Given the description of an element on the screen output the (x, y) to click on. 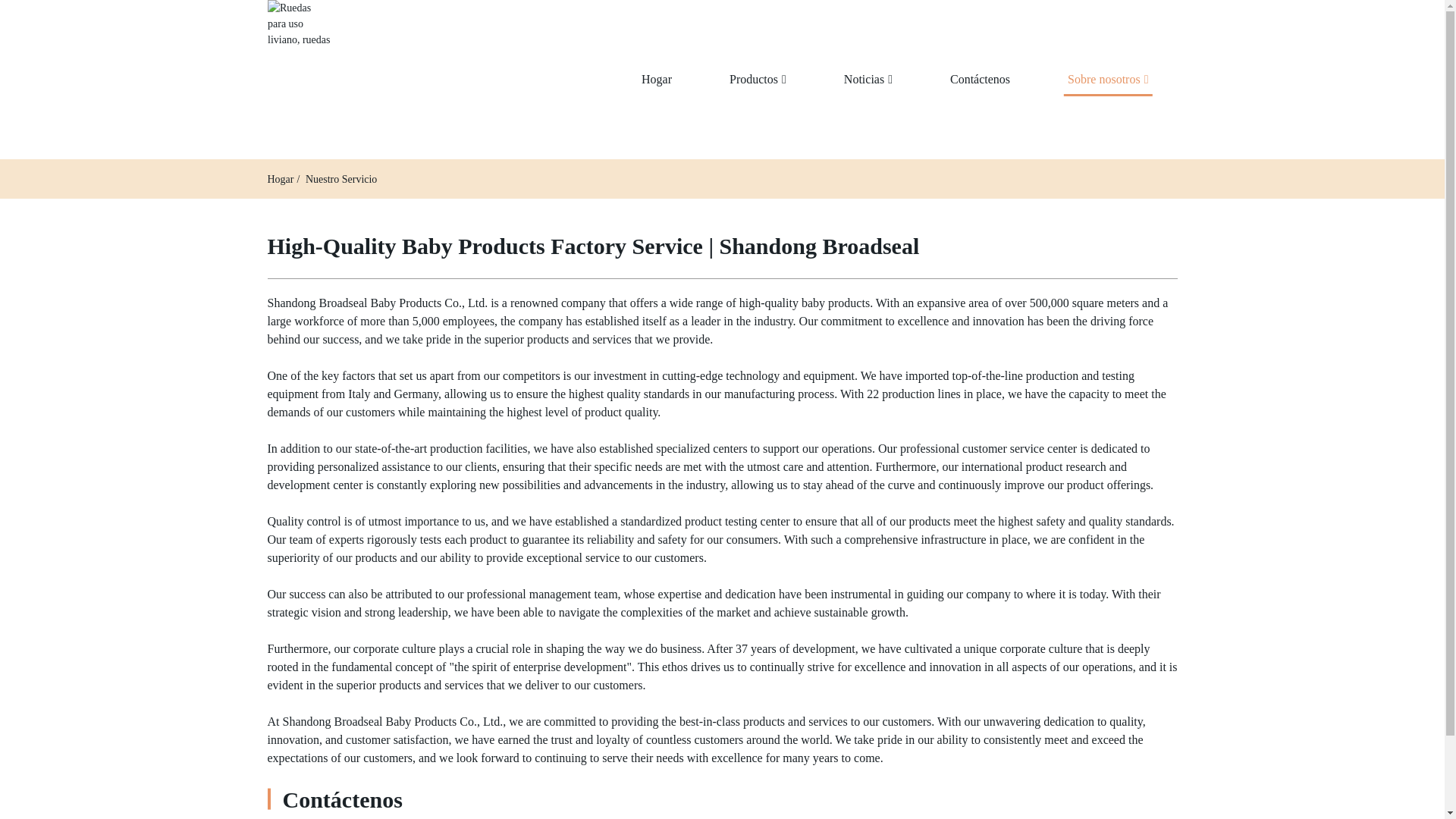
Sobre nosotros (1107, 79)
Productos (757, 79)
Hogar (280, 179)
Nuestro Servicio (341, 179)
